Given the description of an element on the screen output the (x, y) to click on. 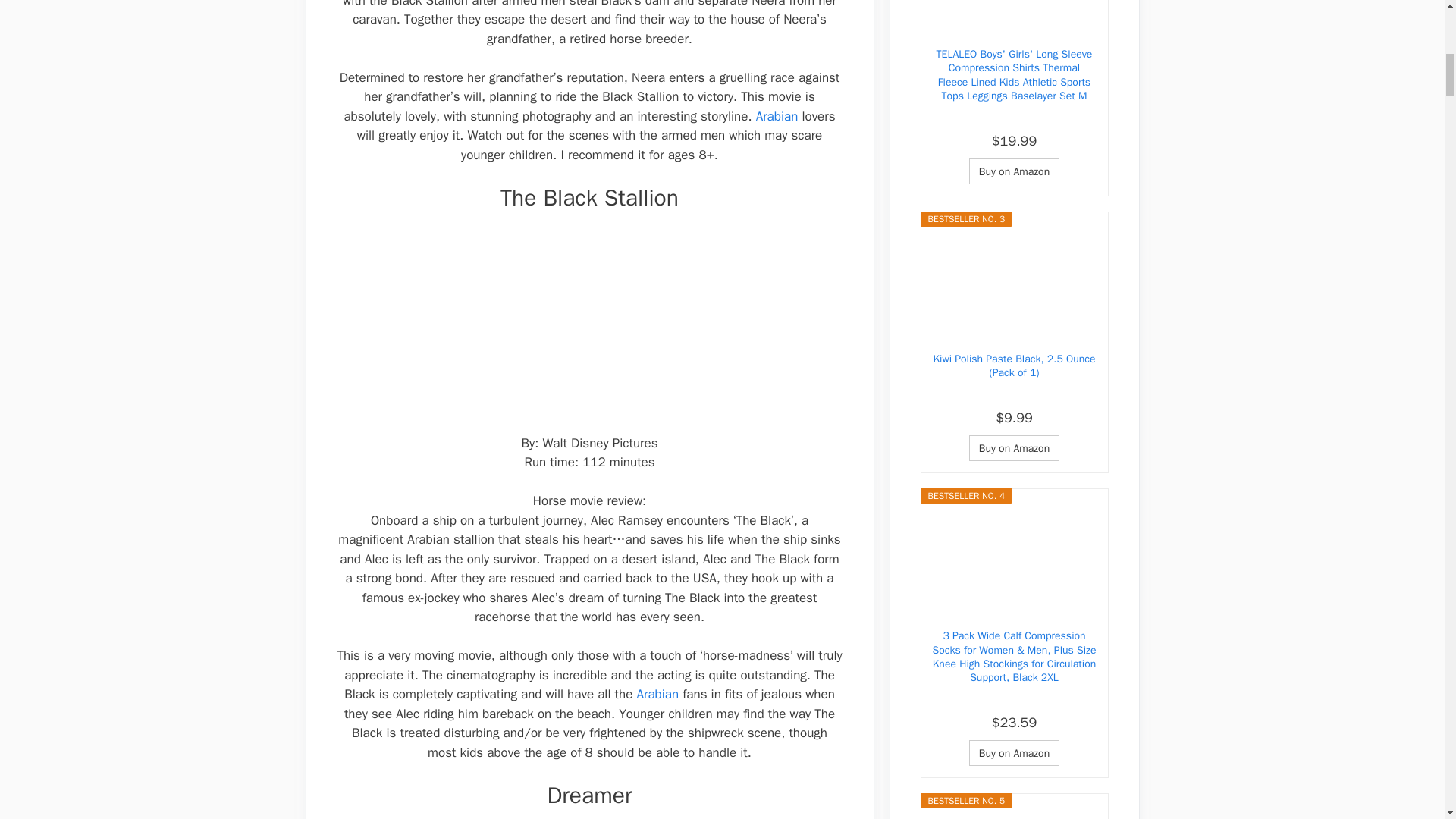
Amazon Prime (1013, 698)
Buy on Amazon (1014, 171)
Amazon Prime (1013, 116)
Buy on Amazon (1014, 447)
Amazon Prime (1013, 394)
